Given the description of an element on the screen output the (x, y) to click on. 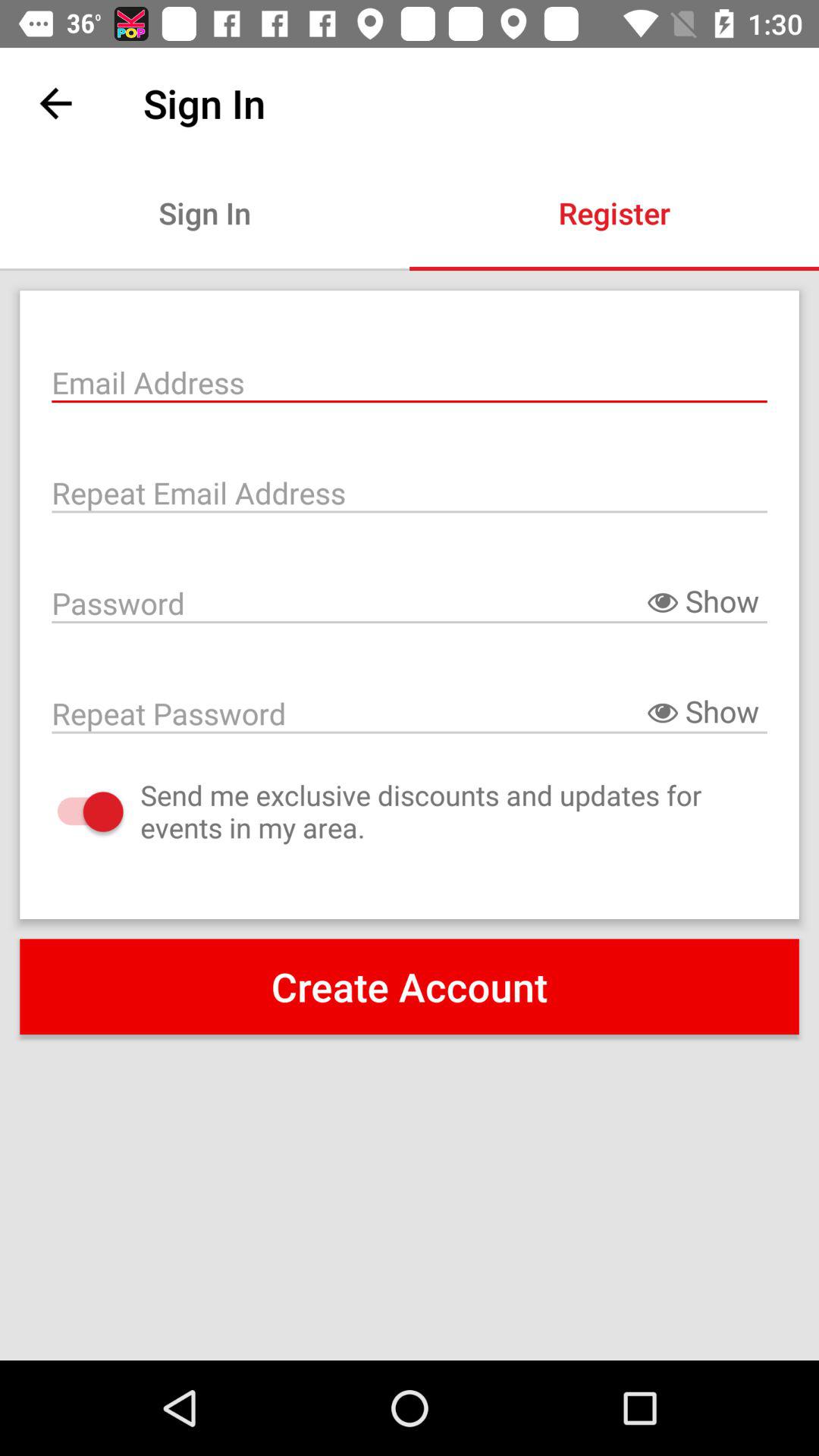
enter password confirmation (409, 712)
